Given the description of an element on the screen output the (x, y) to click on. 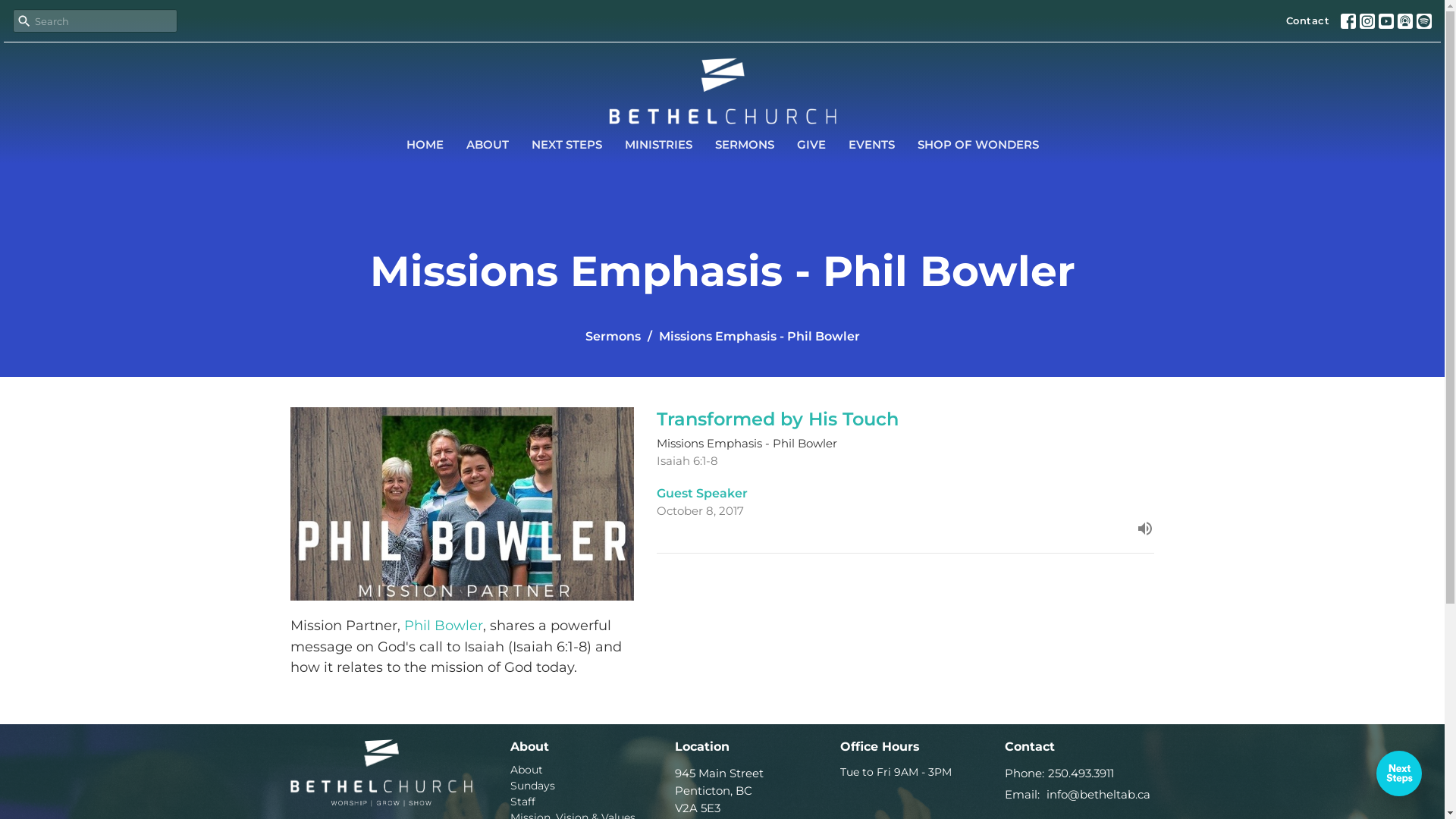
HOME Element type: text (424, 143)
info@betheltab.ca Element type: text (1098, 794)
GIVE Element type: text (810, 143)
NEXT STEPS Element type: text (565, 143)
Phil Bowler Element type: text (442, 625)
SERMONS Element type: text (743, 143)
250.493.3911 Element type: text (1080, 772)
EVENTS Element type: text (870, 143)
Sermons Element type: text (612, 336)
Sundays Element type: text (531, 785)
Contact Element type: text (1307, 20)
About Element type: text (525, 769)
SHOP OF WONDERS Element type: text (977, 143)
Staff Element type: text (521, 801)
MINISTRIES Element type: text (658, 143)
ABOUT Element type: text (486, 143)
